Given the description of an element on the screen output the (x, y) to click on. 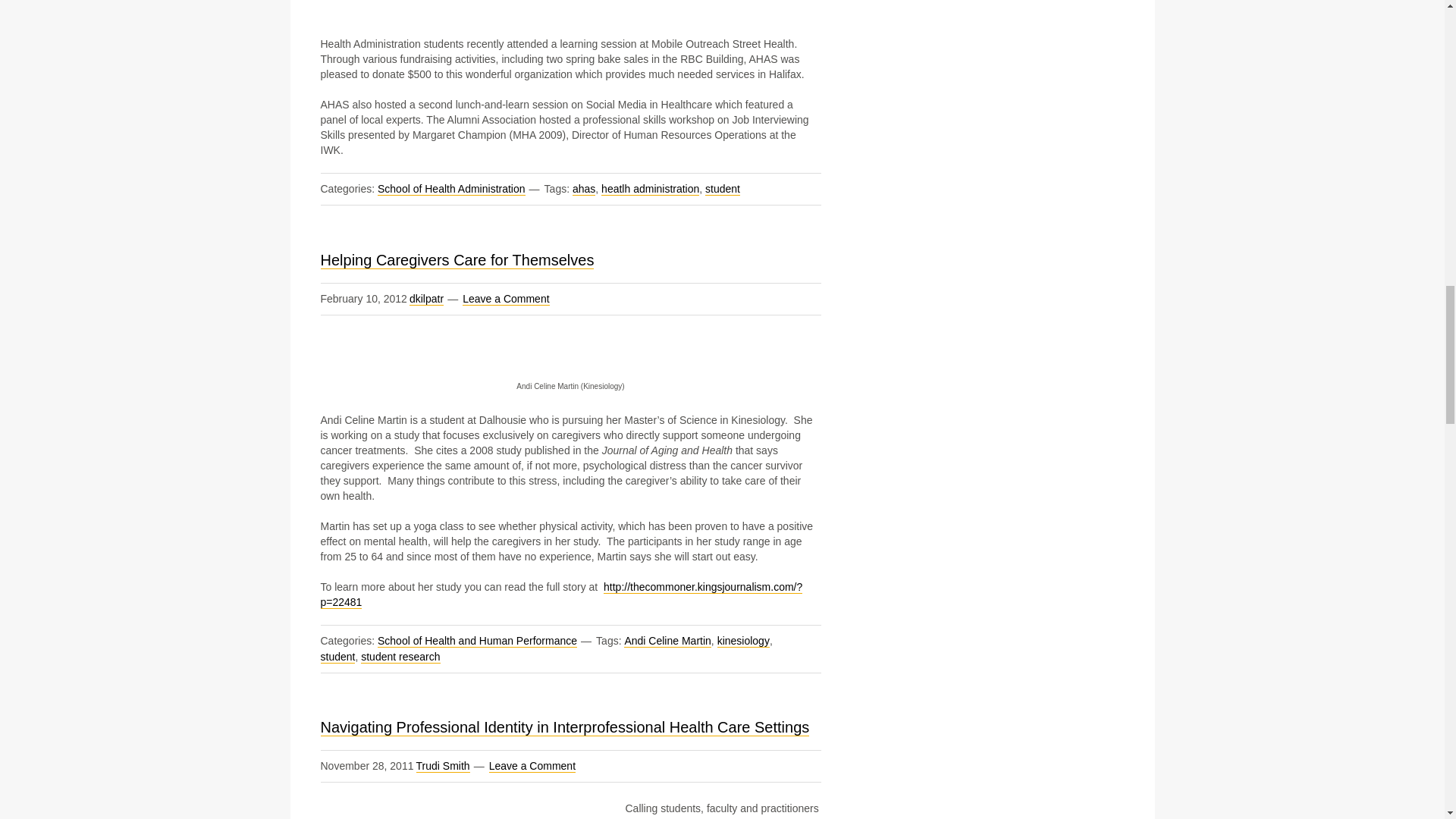
Leave a Comment (505, 298)
dkilpatr (426, 298)
ahas (583, 188)
kinesiology (743, 640)
School of Health Administration (451, 188)
heatlh administration (649, 188)
Andi Celine Martin (667, 640)
Helping Caregivers Care for Themselves (457, 260)
School of Health and Human Performance (476, 640)
student (721, 188)
